Given the description of an element on the screen output the (x, y) to click on. 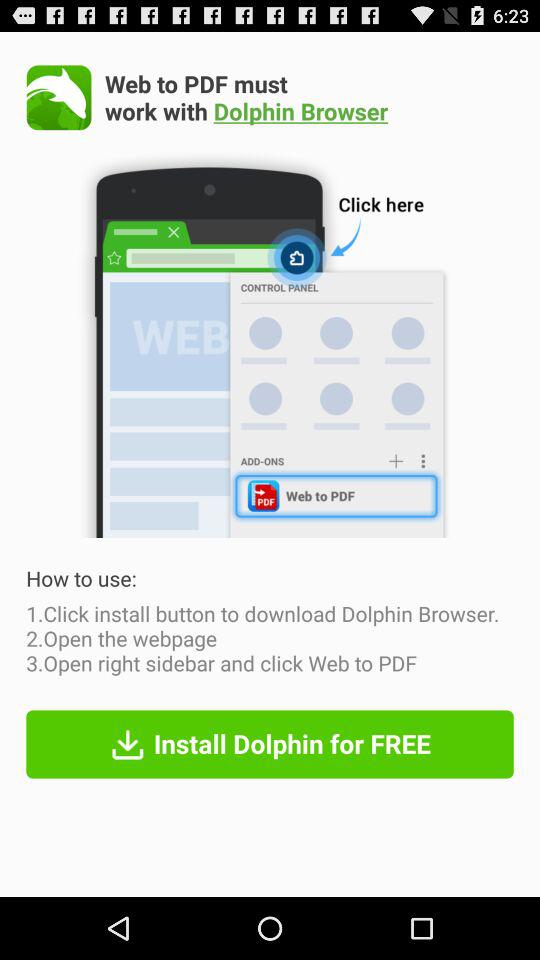
tap icon at the top left corner (58, 97)
